Given the description of an element on the screen output the (x, y) to click on. 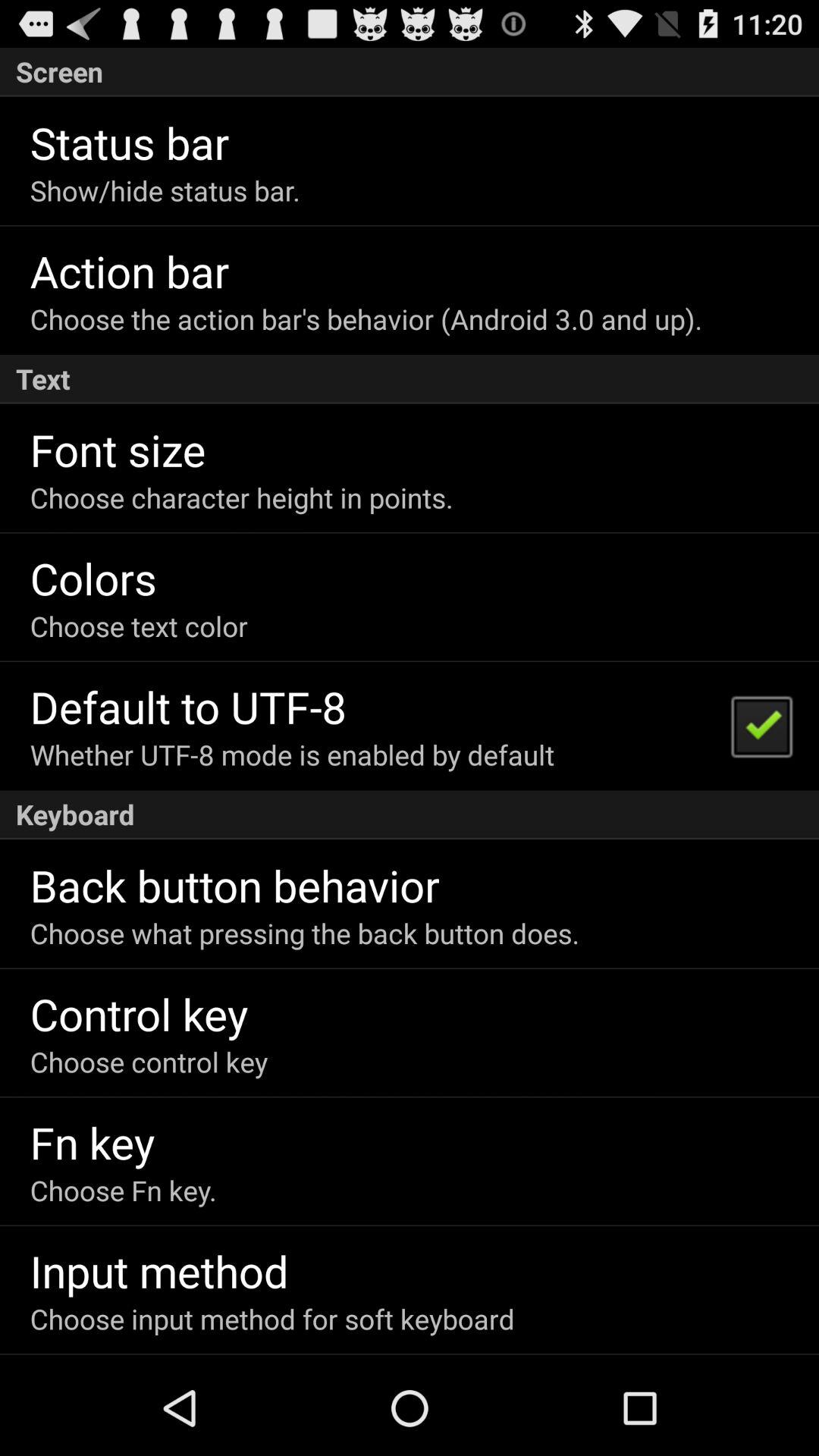
turn on item below colors app (138, 625)
